Given the description of an element on the screen output the (x, y) to click on. 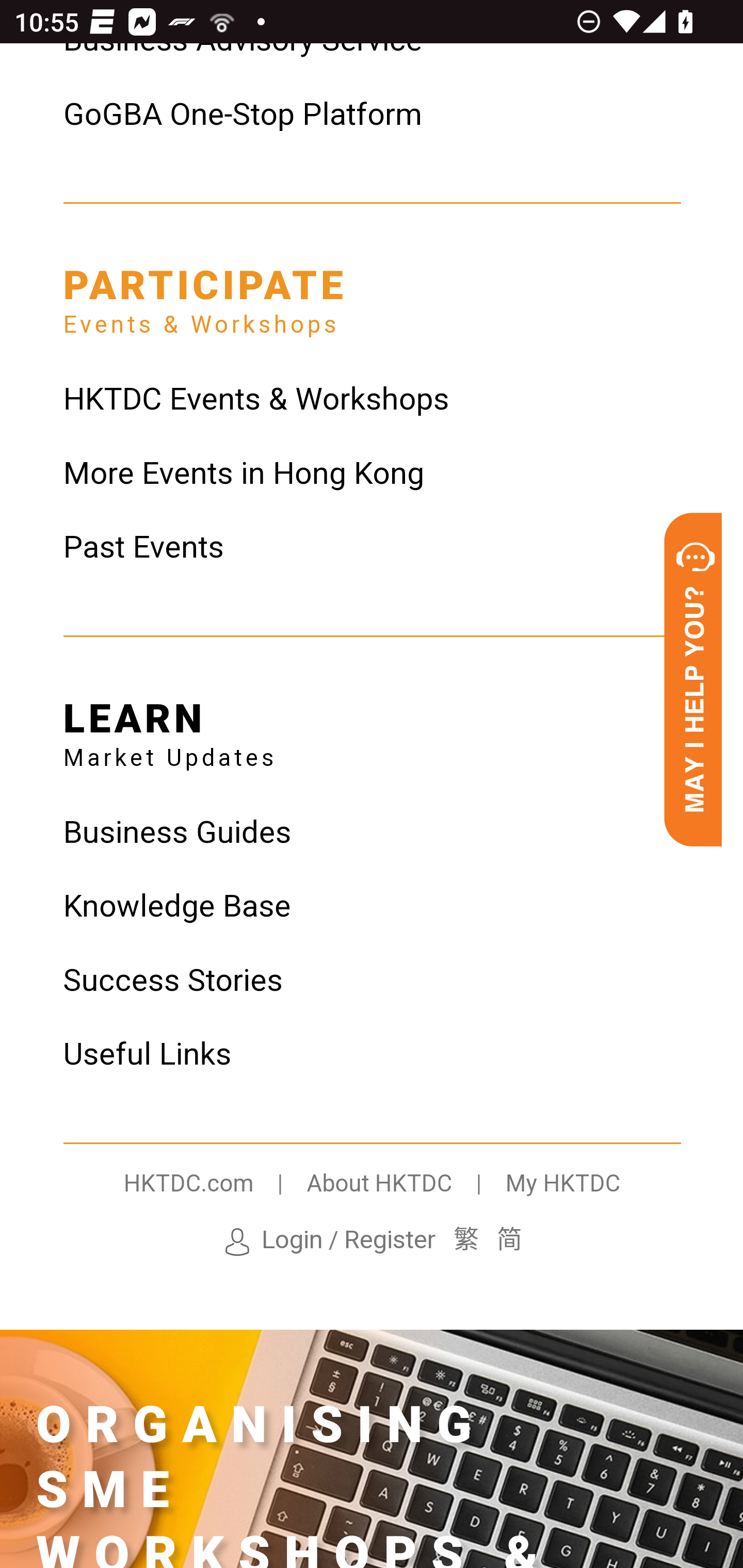
PARTICIPATE Events & Workshops (204, 295)
HKTDC Events & Workshops (371, 401)
More Events in Hong Kong (371, 475)
Past Events (371, 549)
LEARN Market Updates (169, 728)
HKTDC.com |  HKTDC.com  |  (214, 1185)
About HKTDC |  About HKTDC  |  (404, 1185)
My HKTDC (562, 1185)
